Given the description of an element on the screen output the (x, y) to click on. 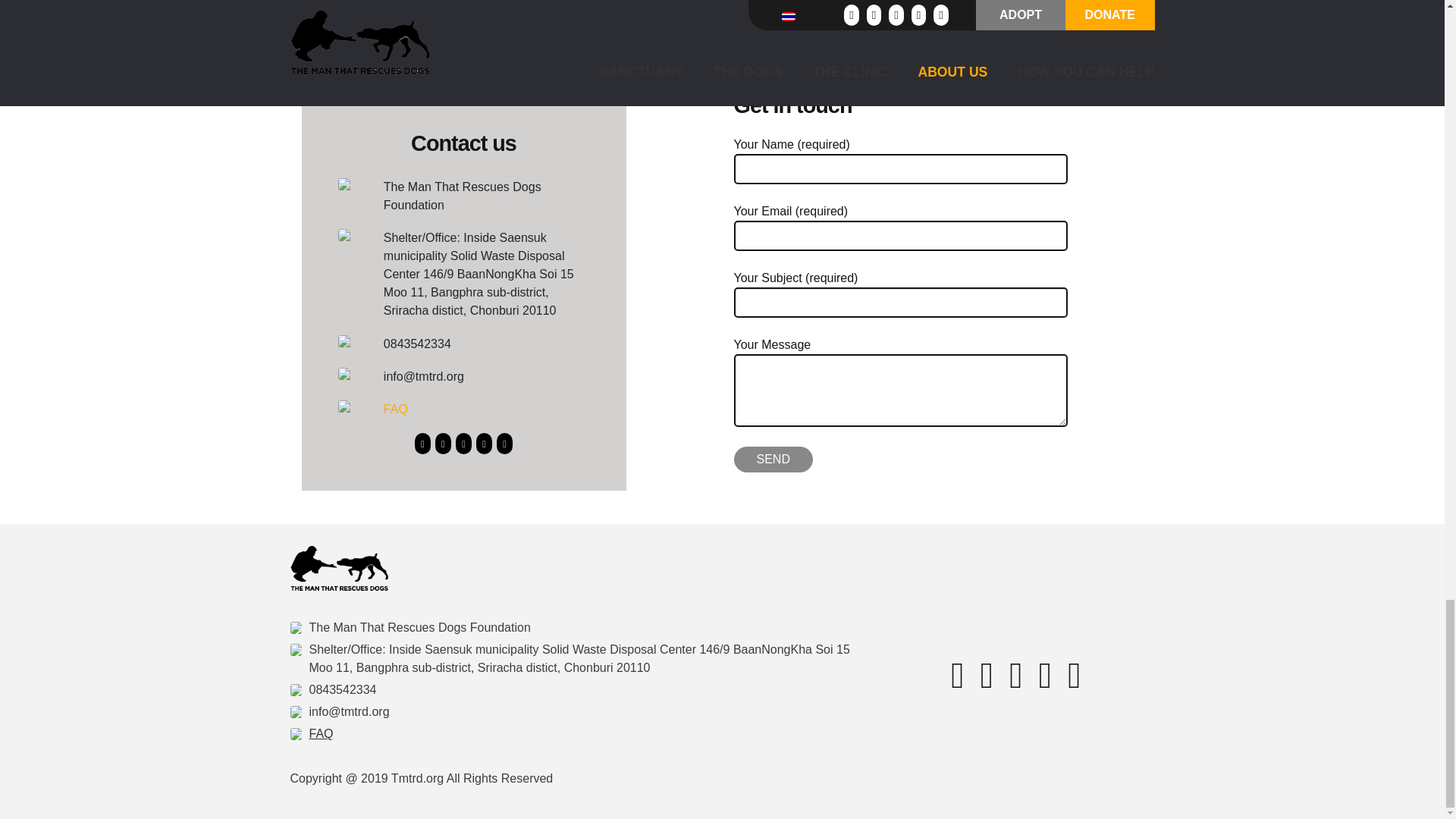
Send (772, 459)
FAQ (395, 408)
Send (772, 459)
